Given the description of an element on the screen output the (x, y) to click on. 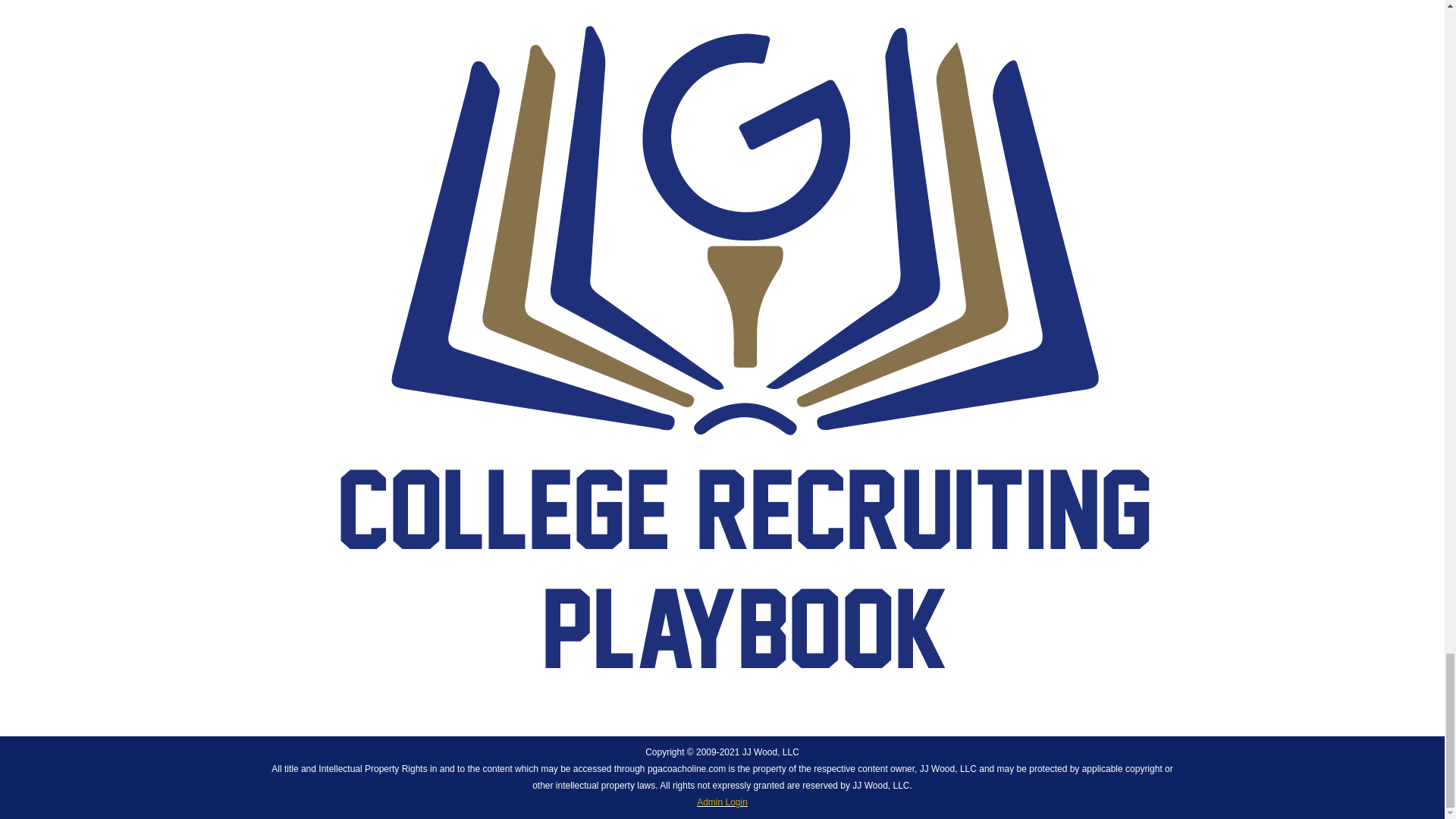
Admin Login (722, 801)
